Given the description of an element on the screen output the (x, y) to click on. 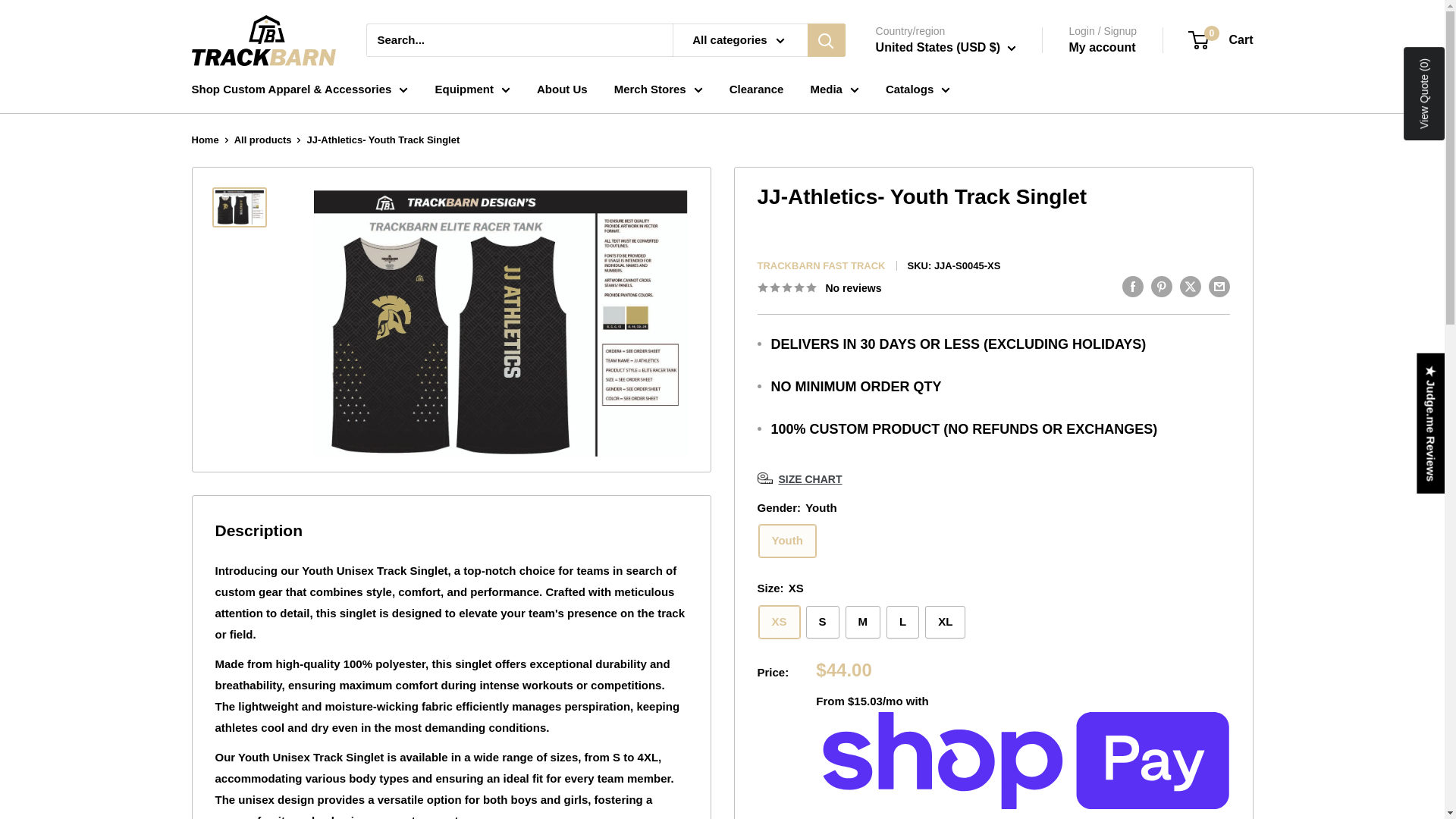
Youth (786, 540)
XS (778, 621)
M (862, 621)
XL (944, 621)
S (823, 621)
L (902, 621)
